Given the description of an element on the screen output the (x, y) to click on. 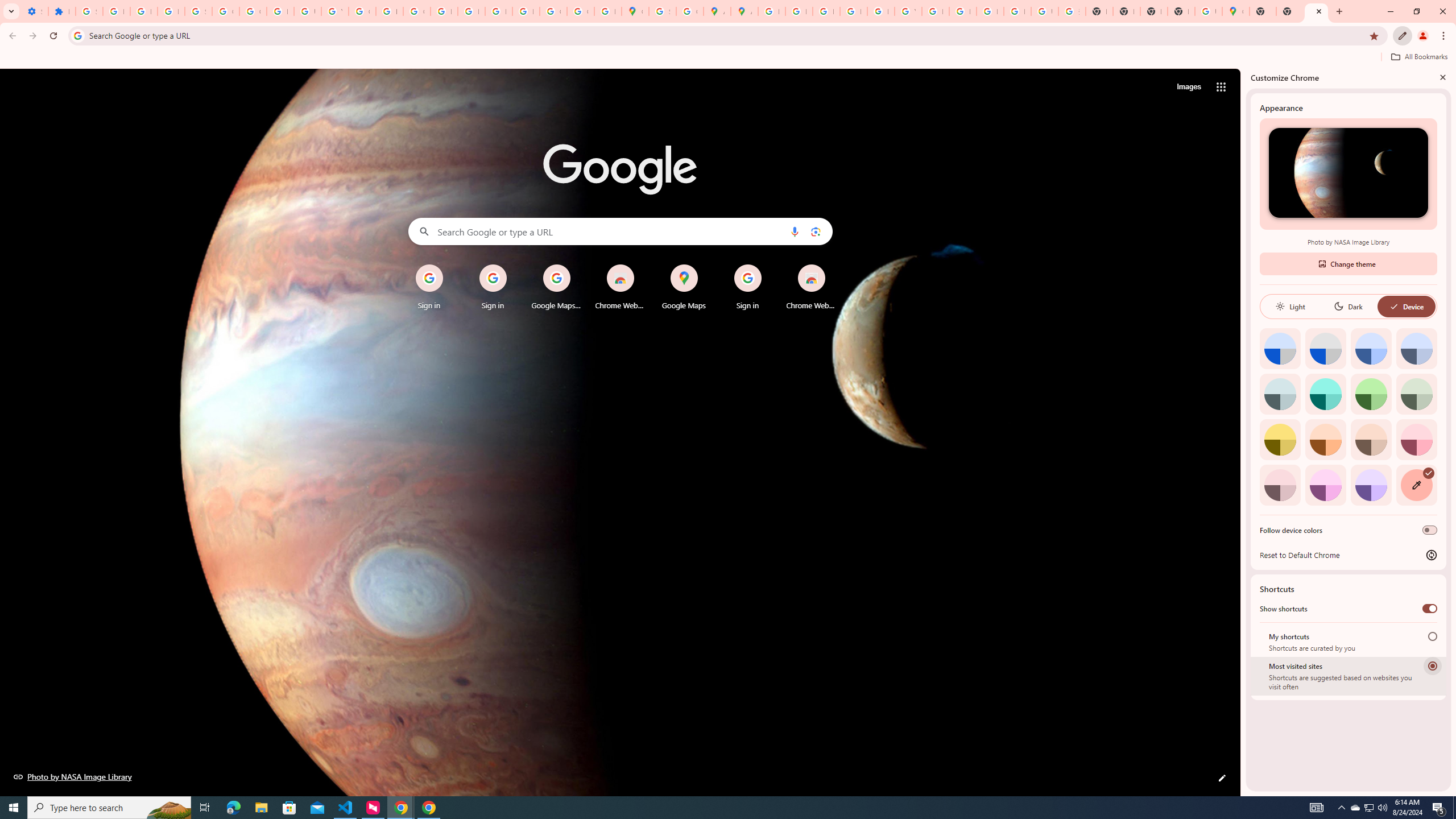
New Tab (1289, 11)
My shortcuts (1432, 636)
Change theme (1348, 263)
Light (1289, 305)
Default color (1279, 348)
Device (1406, 305)
Dark (1348, 305)
AutomationID: baseSvg (1394, 306)
